Given the description of an element on the screen output the (x, y) to click on. 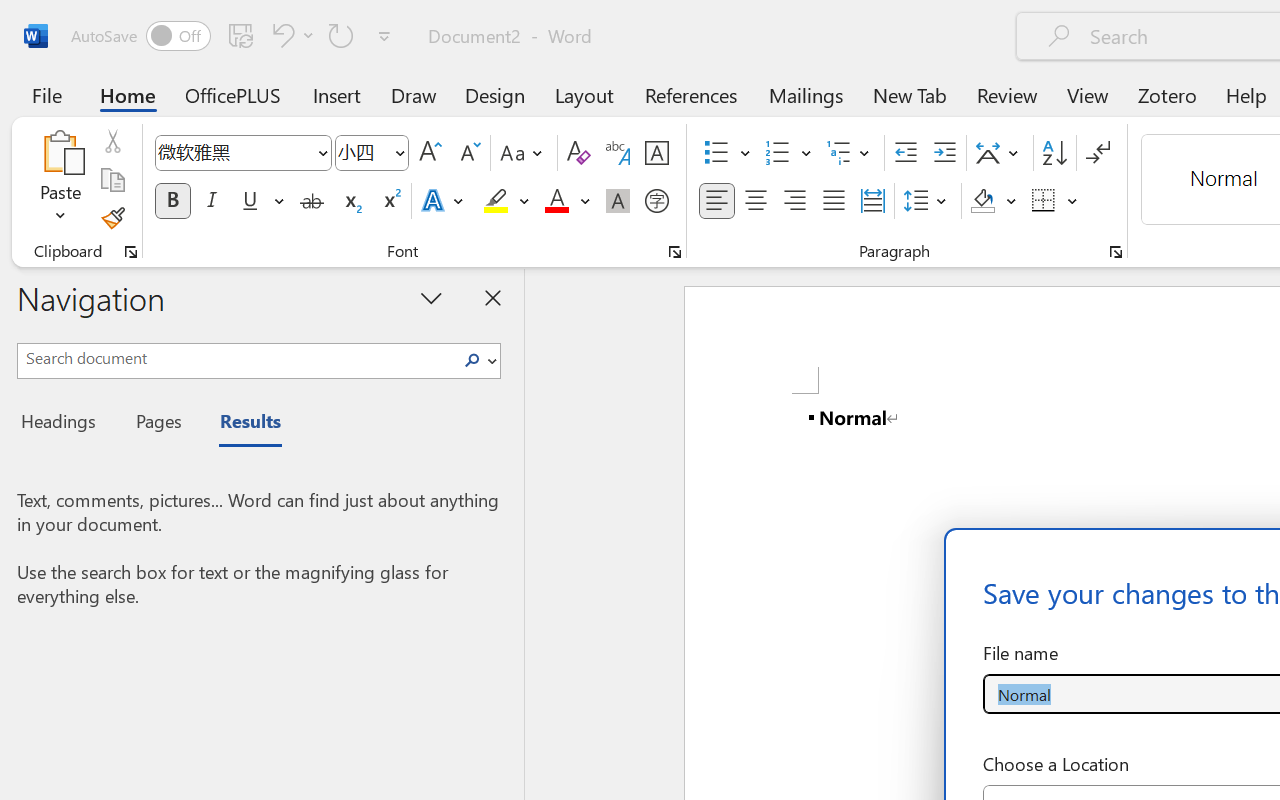
References (690, 94)
Superscript (390, 201)
Review (1007, 94)
View (1087, 94)
Bold (172, 201)
Open (399, 152)
Numbering (778, 153)
Draw (413, 94)
Layout (584, 94)
Font (234, 152)
Distributed (872, 201)
Headings (64, 424)
Font Size (362, 152)
Results (240, 424)
